Given the description of an element on the screen output the (x, y) to click on. 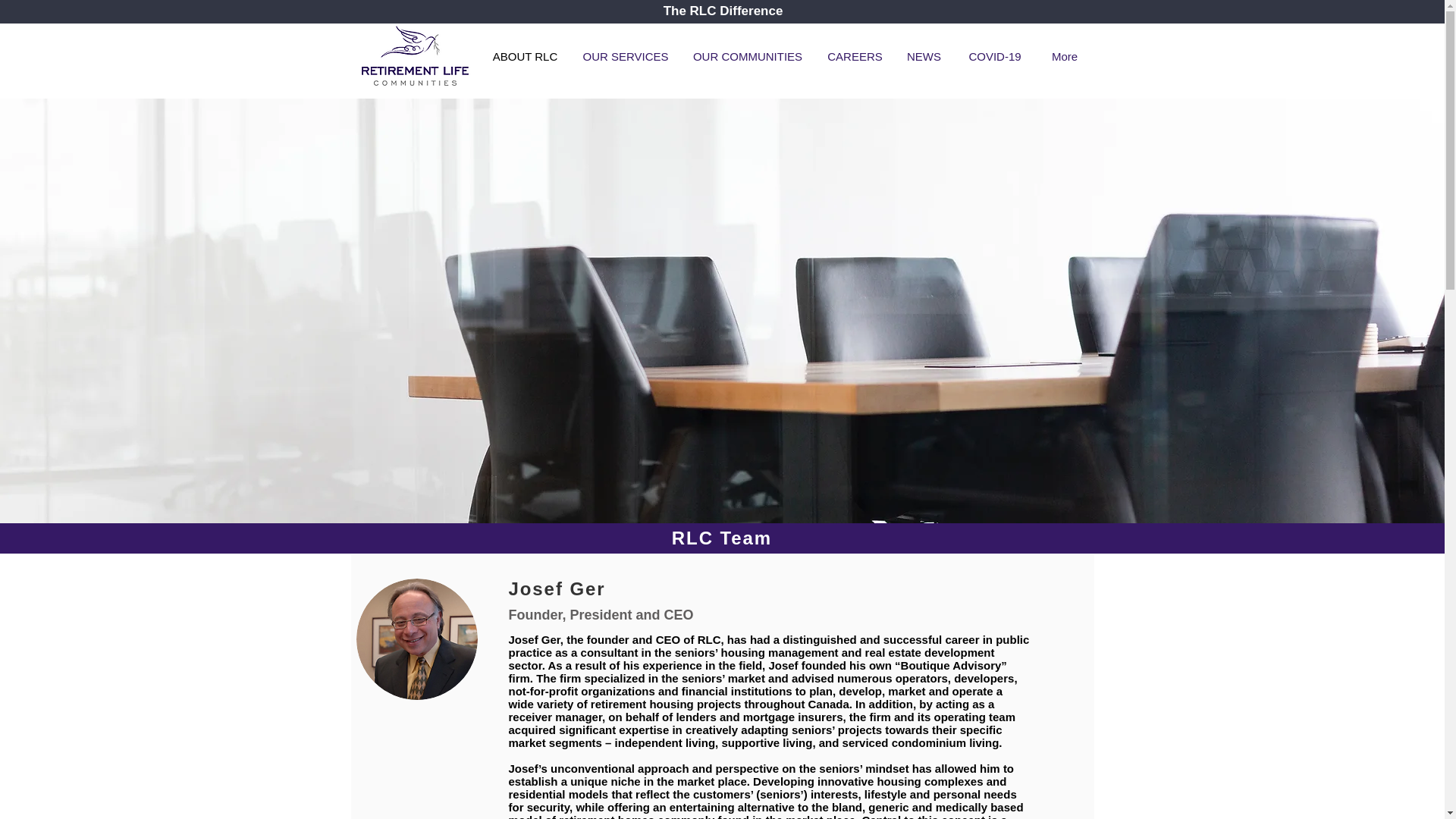
CAREERS (855, 56)
ABOUT RLC (525, 56)
COVID-19 (994, 56)
OUR COMMUNITIES (747, 56)
NEWS (924, 56)
